Given the description of an element on the screen output the (x, y) to click on. 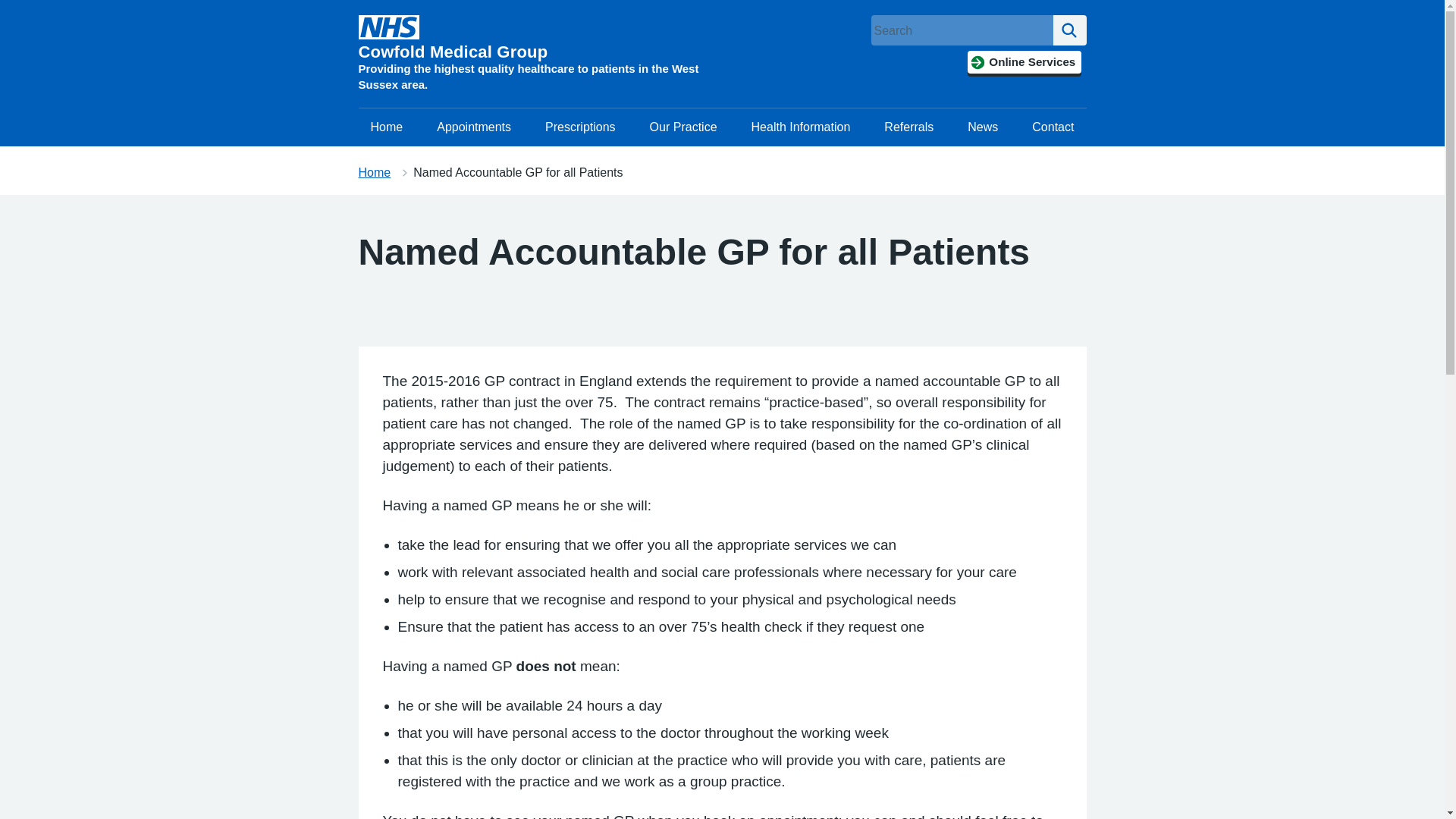
Search (1069, 30)
NHS Logo (388, 27)
Home (374, 172)
Health Information (801, 127)
Our Practice (683, 127)
Home (386, 127)
Online Services  (1024, 61)
News (982, 127)
Contact (1053, 127)
Referrals (908, 127)
Prescriptions (579, 127)
Appointments (473, 127)
